Given the description of an element on the screen output the (x, y) to click on. 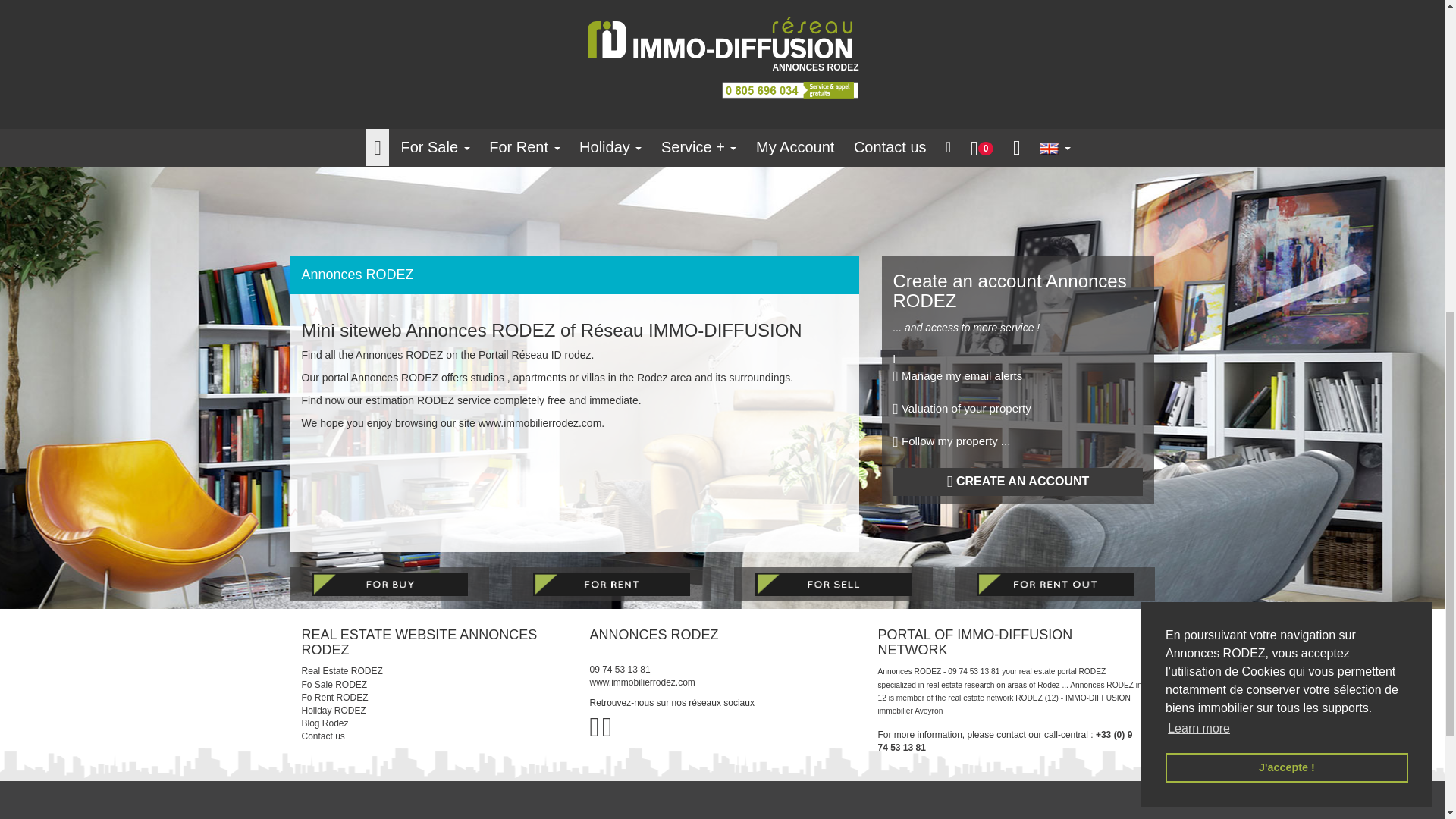
Real Estate RODEZ (433, 671)
Fo Rent RODEZ (433, 697)
J'accepte ! (1286, 185)
Learn more (1198, 146)
Fo Sale RODEZ (433, 684)
CREATE AN ACCOUNT (1017, 481)
